Given the description of an element on the screen output the (x, y) to click on. 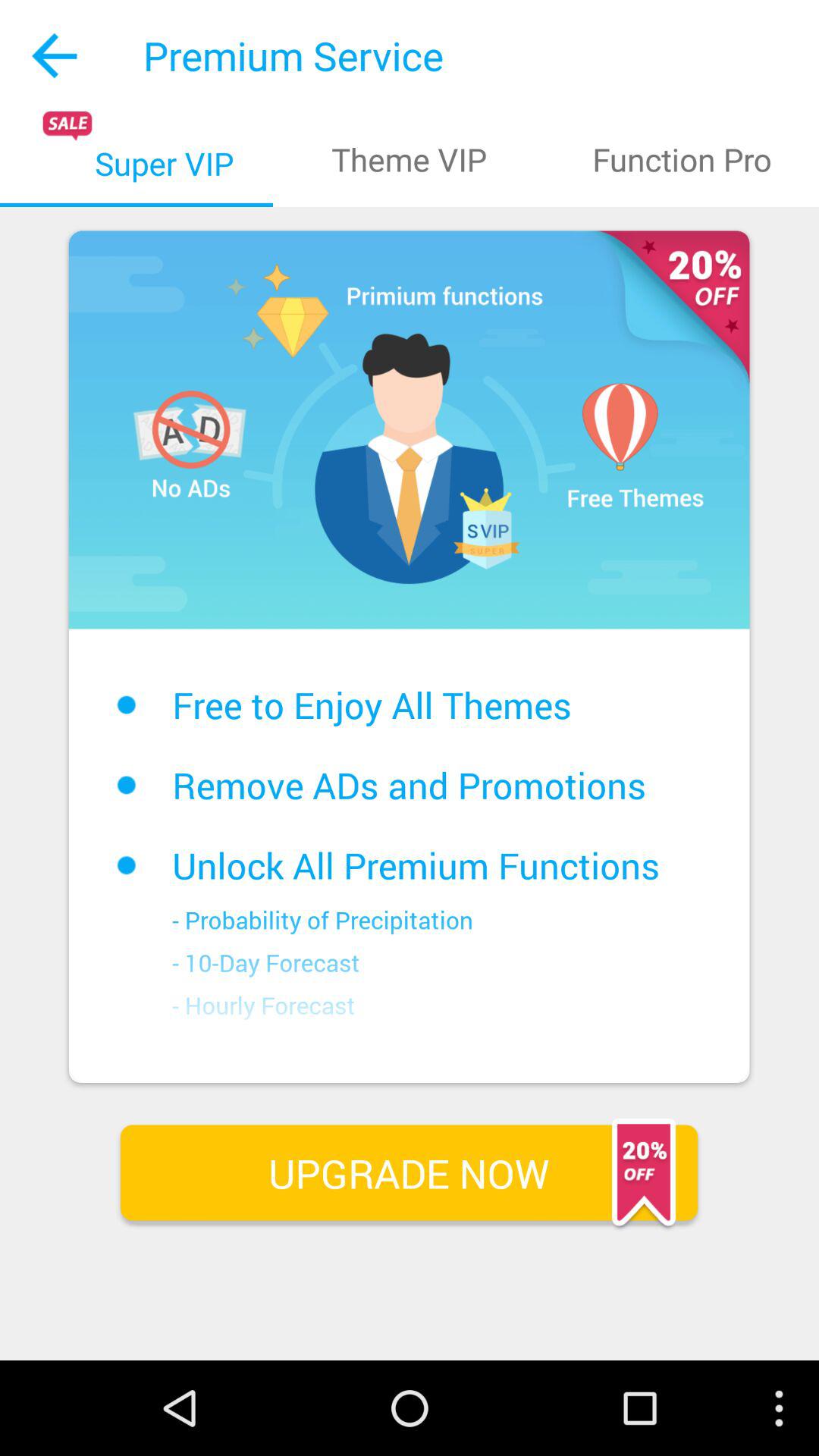
turn off the icon to the left of the premium service app (55, 55)
